Given the description of an element on the screen output the (x, y) to click on. 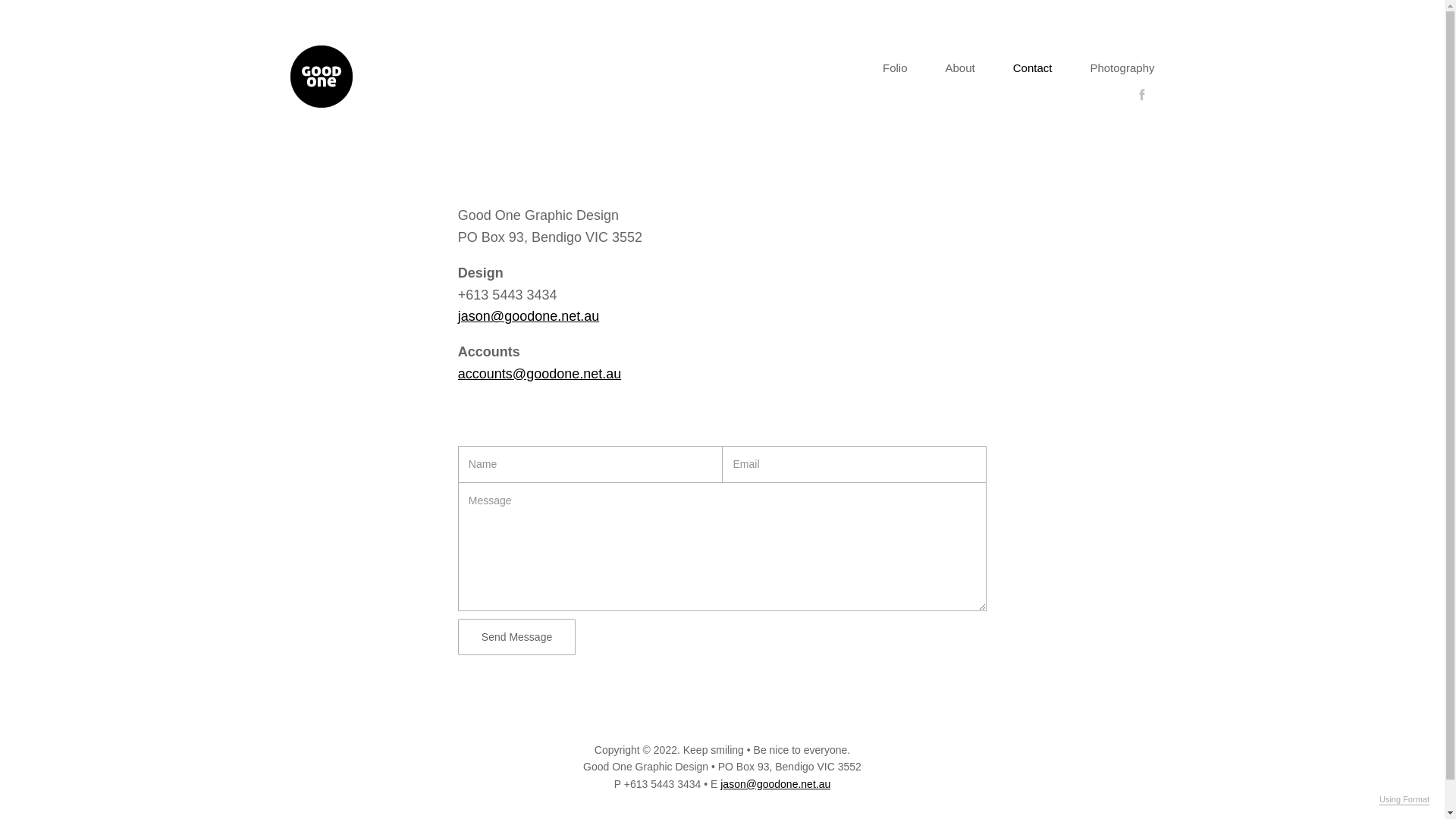
jason@goodone.net.au Element type: text (528, 315)
jason@goodone.net.au Element type: text (775, 784)
Folio Element type: text (894, 67)
Send Message Element type: text (516, 636)
Contact Element type: text (1032, 67)
Photography Element type: text (1121, 67)
About Element type: text (960, 67)
accounts@goodone.net.au Element type: text (539, 373)
Using Format Element type: text (1404, 799)
